Given the description of an element on the screen output the (x, y) to click on. 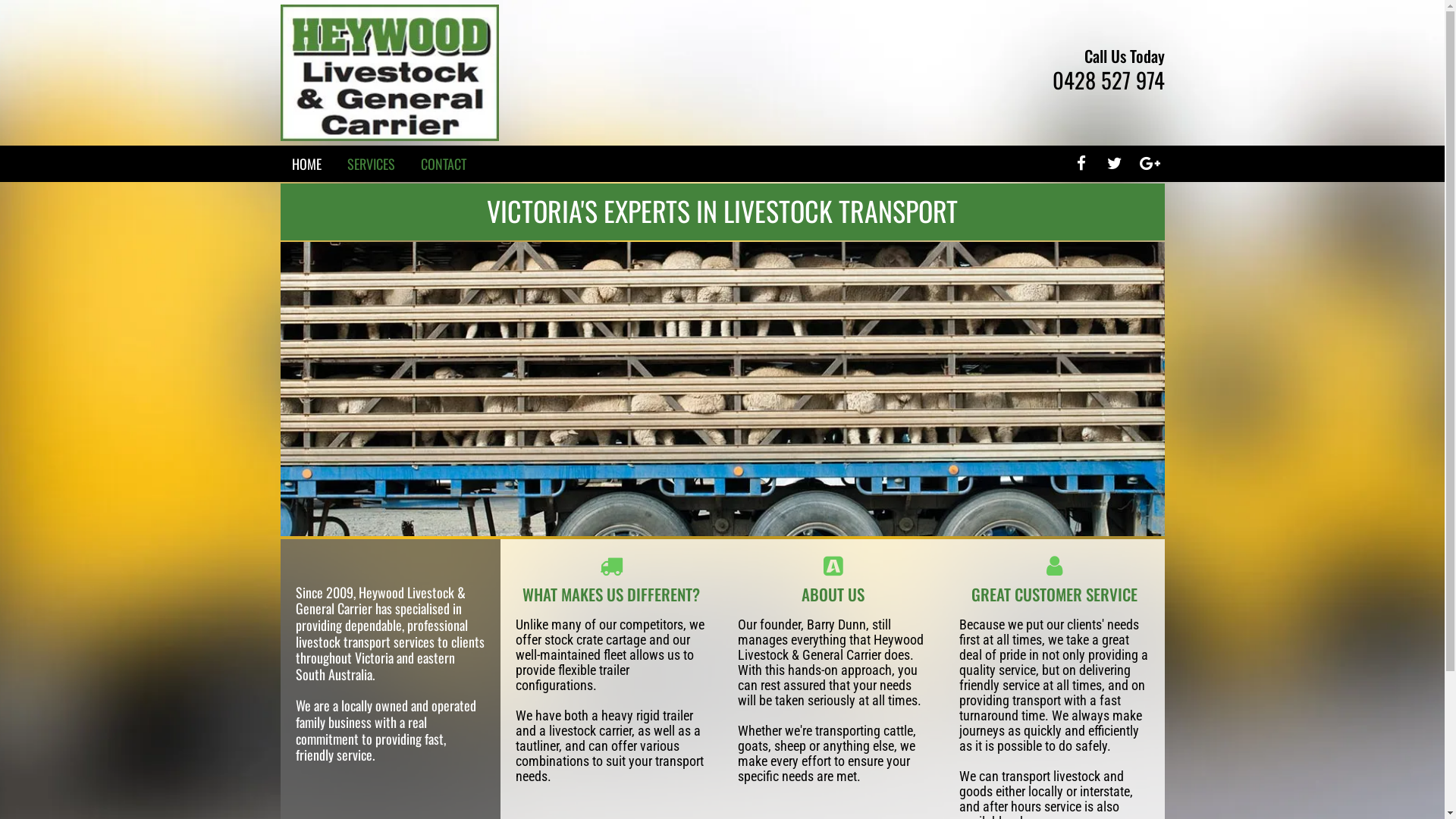
0428 527 974 Element type: text (1108, 79)
heywood-livestock-truck-sheep Element type: hover (722, 388)
CONTACT Element type: text (442, 162)
HOME Element type: text (305, 162)
heywood livestock logo Element type: hover (389, 72)
SERVICES Element type: text (371, 162)
